Given the description of an element on the screen output the (x, y) to click on. 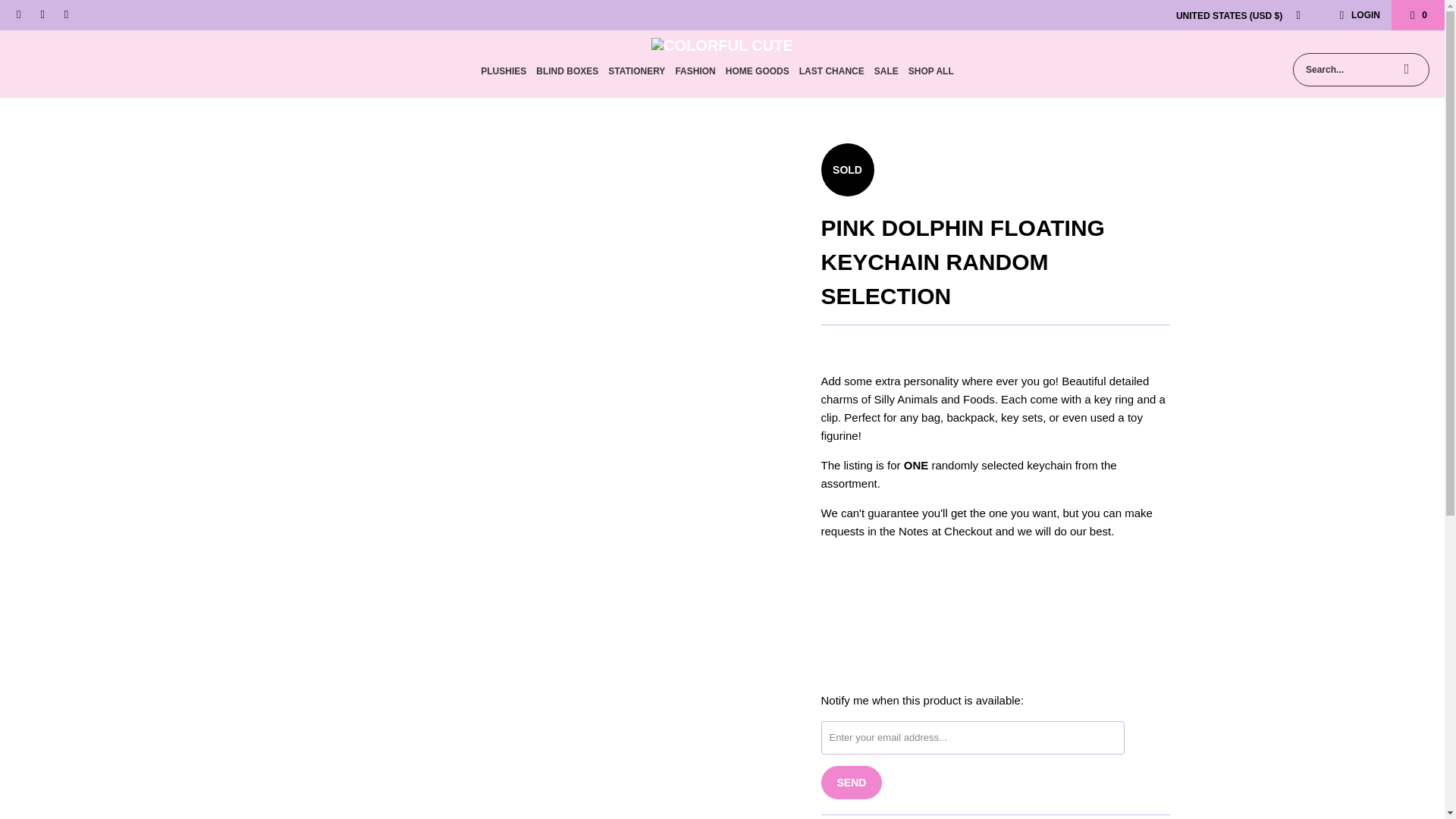
Colorful Cute on Facebook (17, 14)
Colorful Cute (721, 45)
Colorful Cute on TikTok (65, 14)
Colorful Cute on Instagram (41, 14)
My Account  (1357, 14)
Send (851, 782)
